Given the description of an element on the screen output the (x, y) to click on. 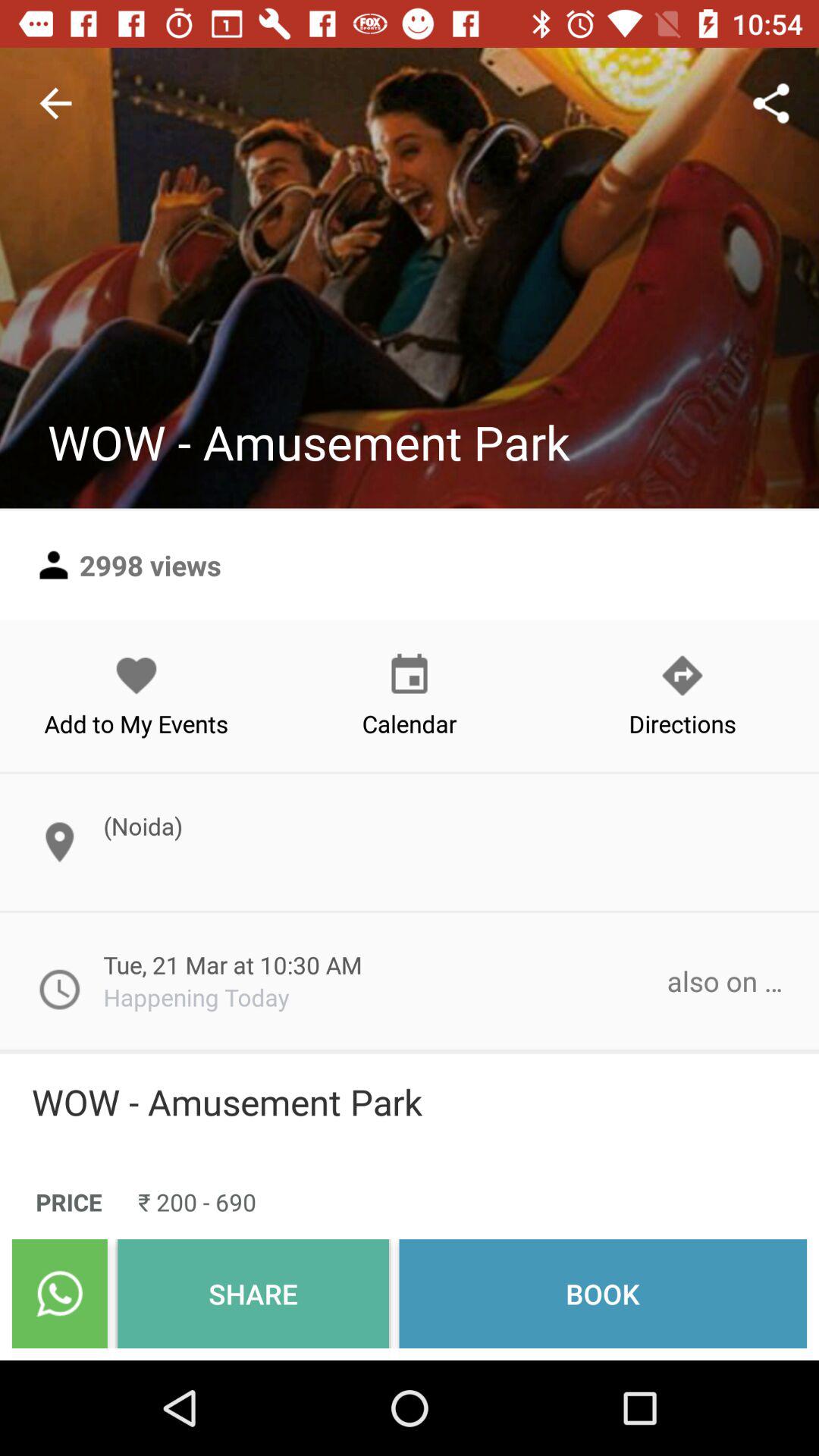
launch the wow - amusement park icon (409, 1101)
